Given the description of an element on the screen output the (x, y) to click on. 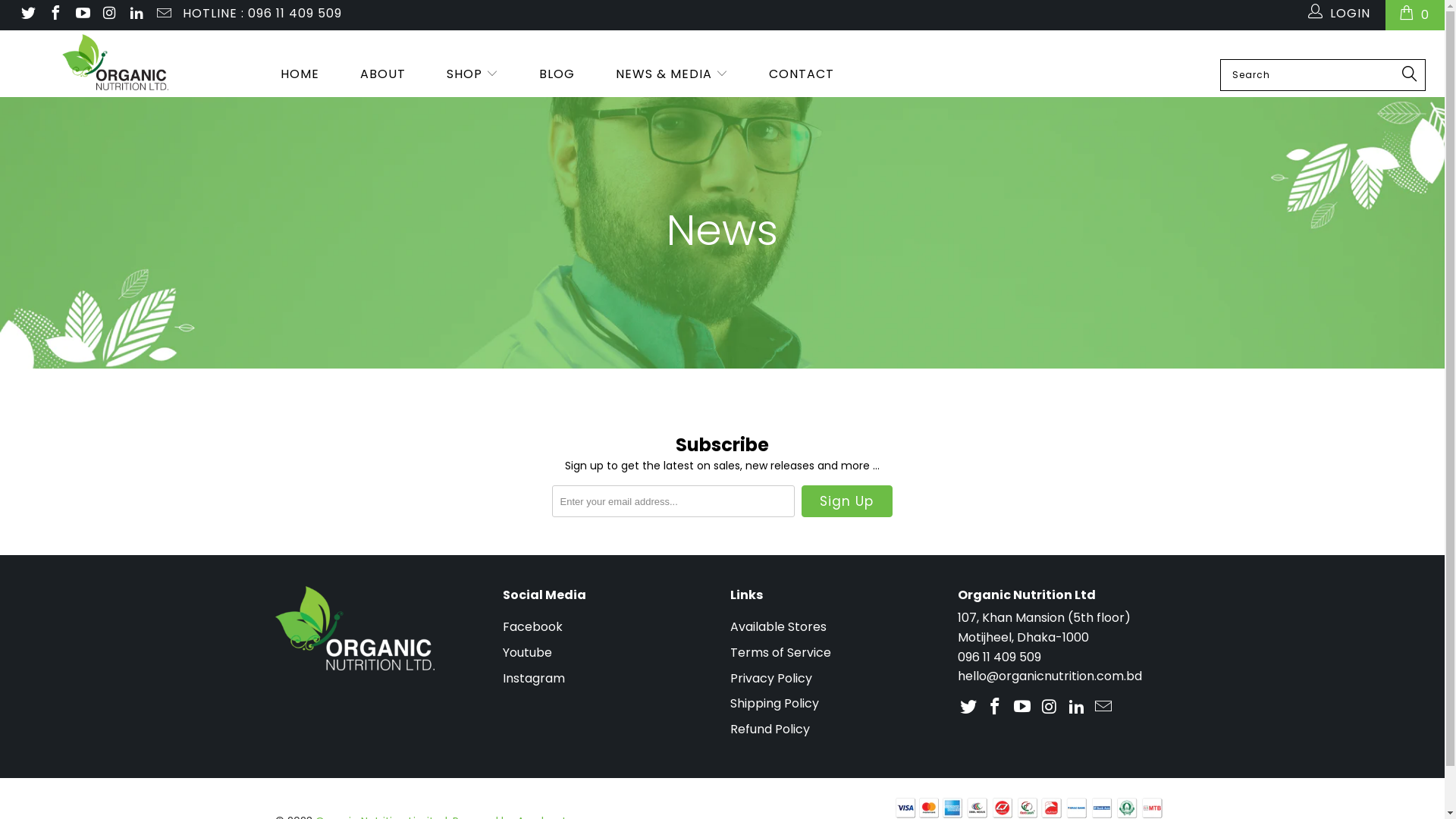
Organic Nutrition Limited on Twitter Element type: hover (968, 707)
Sign Up Element type: text (845, 501)
BLOG Element type: text (556, 74)
Email Organic Nutrition Limited Element type: hover (162, 14)
Refund Policy Element type: text (769, 728)
Terms of Service Element type: text (779, 652)
0 Element type: text (1414, 15)
Organic Nutrition Limited on Instagram Element type: hover (108, 14)
ABOUT Element type: text (382, 74)
CONTACT Element type: text (801, 74)
Organic Nutrition Limited Element type: hover (115, 62)
Shipping Policy Element type: text (773, 703)
Email Organic Nutrition Limited Element type: hover (1103, 707)
Organic Nutrition Limited on Twitter Element type: hover (26, 14)
Youtube Element type: text (526, 652)
SHOP Element type: text (472, 74)
Organic Nutrition Limited on YouTube Element type: hover (1022, 707)
Organic Nutrition Limited on YouTube Element type: hover (81, 14)
Organic Nutrition Limited on Facebook Element type: hover (54, 14)
Organic Nutrition Limited on LinkedIn Element type: hover (1076, 707)
NEWS & MEDIA Element type: text (671, 74)
Organic Nutrition Limited on LinkedIn Element type: hover (135, 14)
Instagram Element type: text (533, 678)
Privacy Policy Element type: text (770, 678)
LOGIN Element type: text (1339, 15)
HOTLINE : 096 11 409 509 Element type: text (262, 15)
Organic Nutrition Limited on Facebook Element type: hover (995, 707)
Organic Nutrition Limited on Instagram Element type: hover (1049, 707)
Facebook Element type: text (531, 626)
Available Stores Element type: text (777, 626)
HOME Element type: text (299, 74)
